Given the description of an element on the screen output the (x, y) to click on. 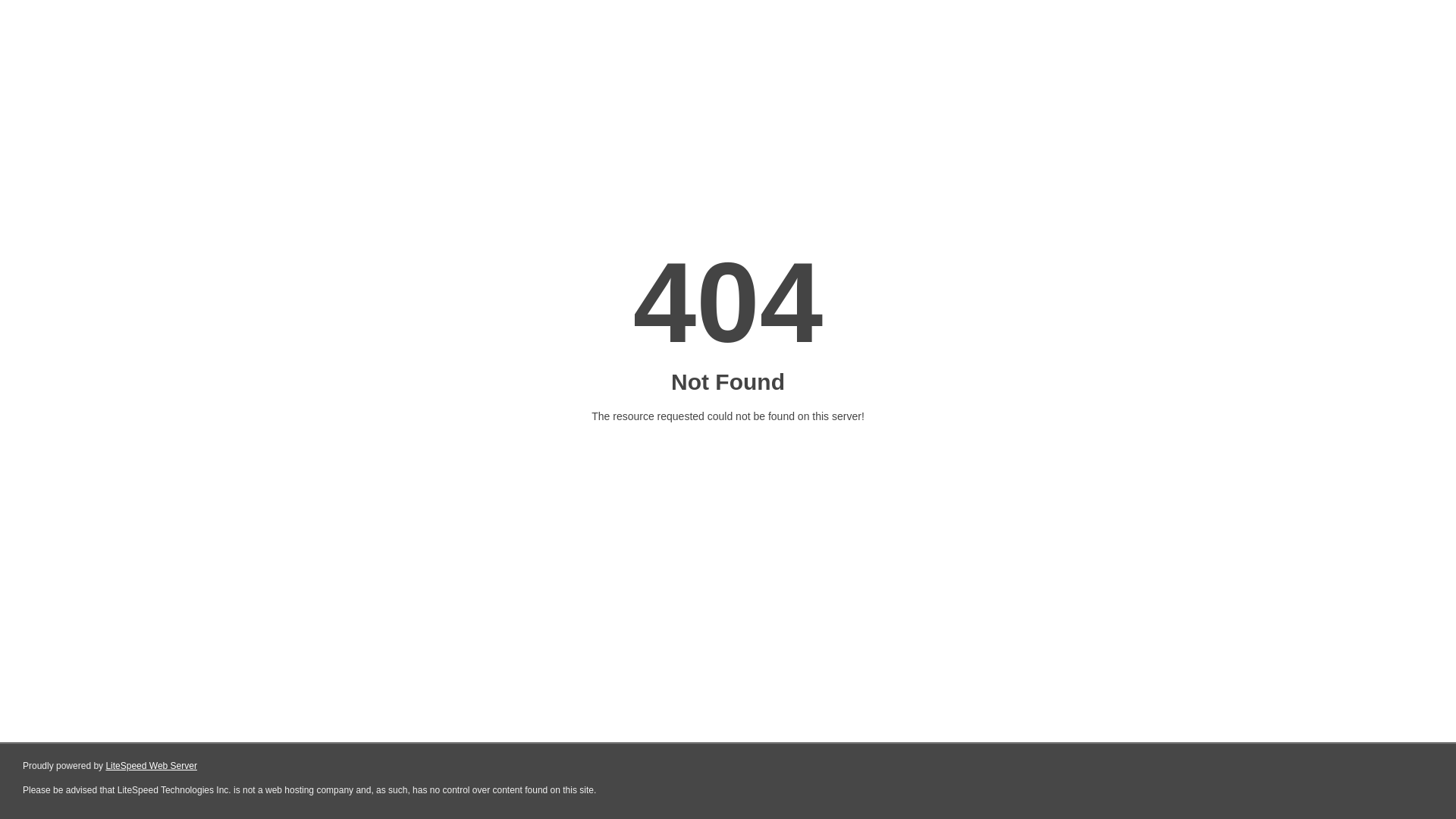
LiteSpeed Web Server Element type: text (151, 765)
